Given the description of an element on the screen output the (x, y) to click on. 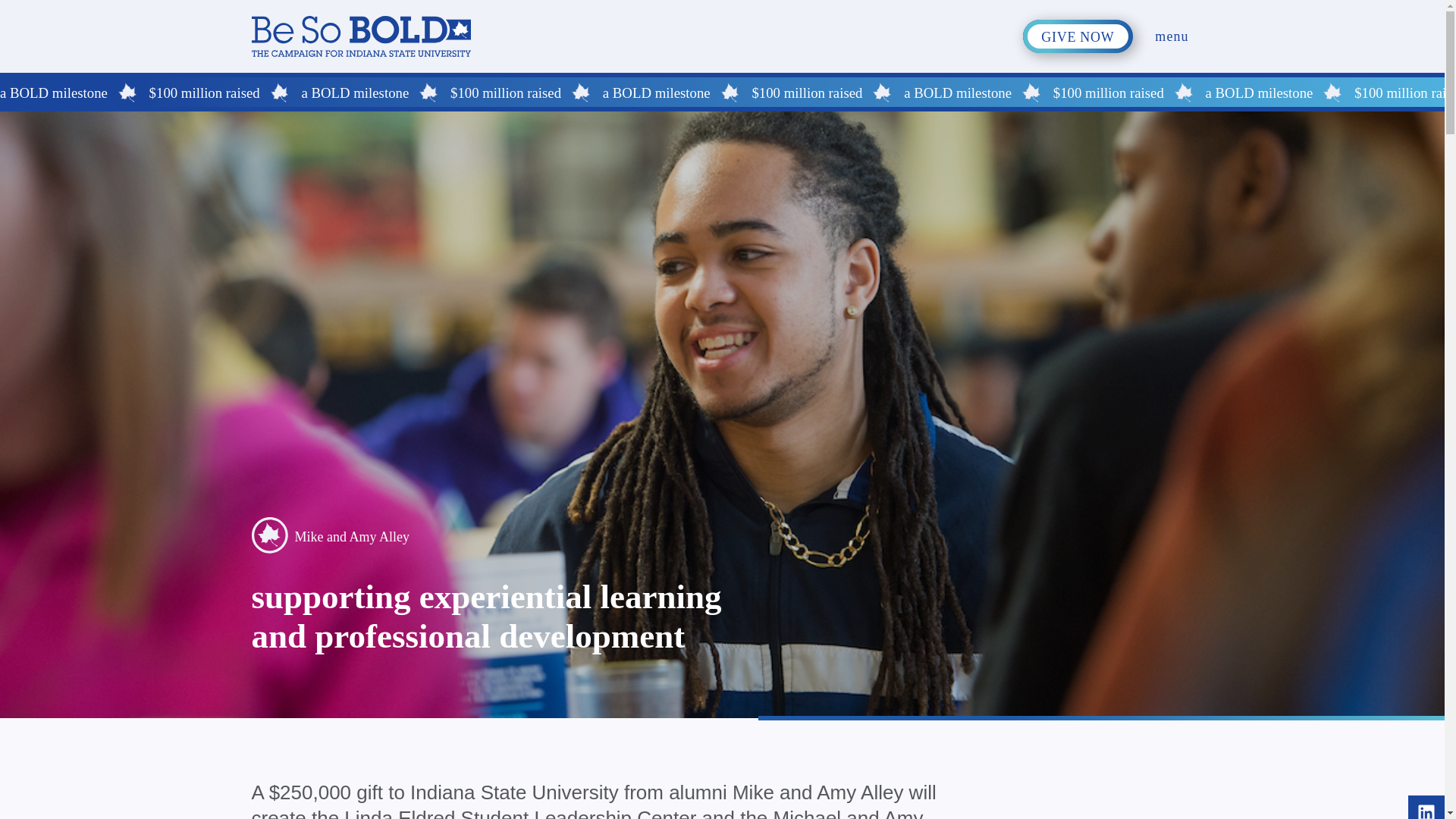
menu (1172, 7)
GIVE NOW (1077, 11)
